Given the description of an element on the screen output the (x, y) to click on. 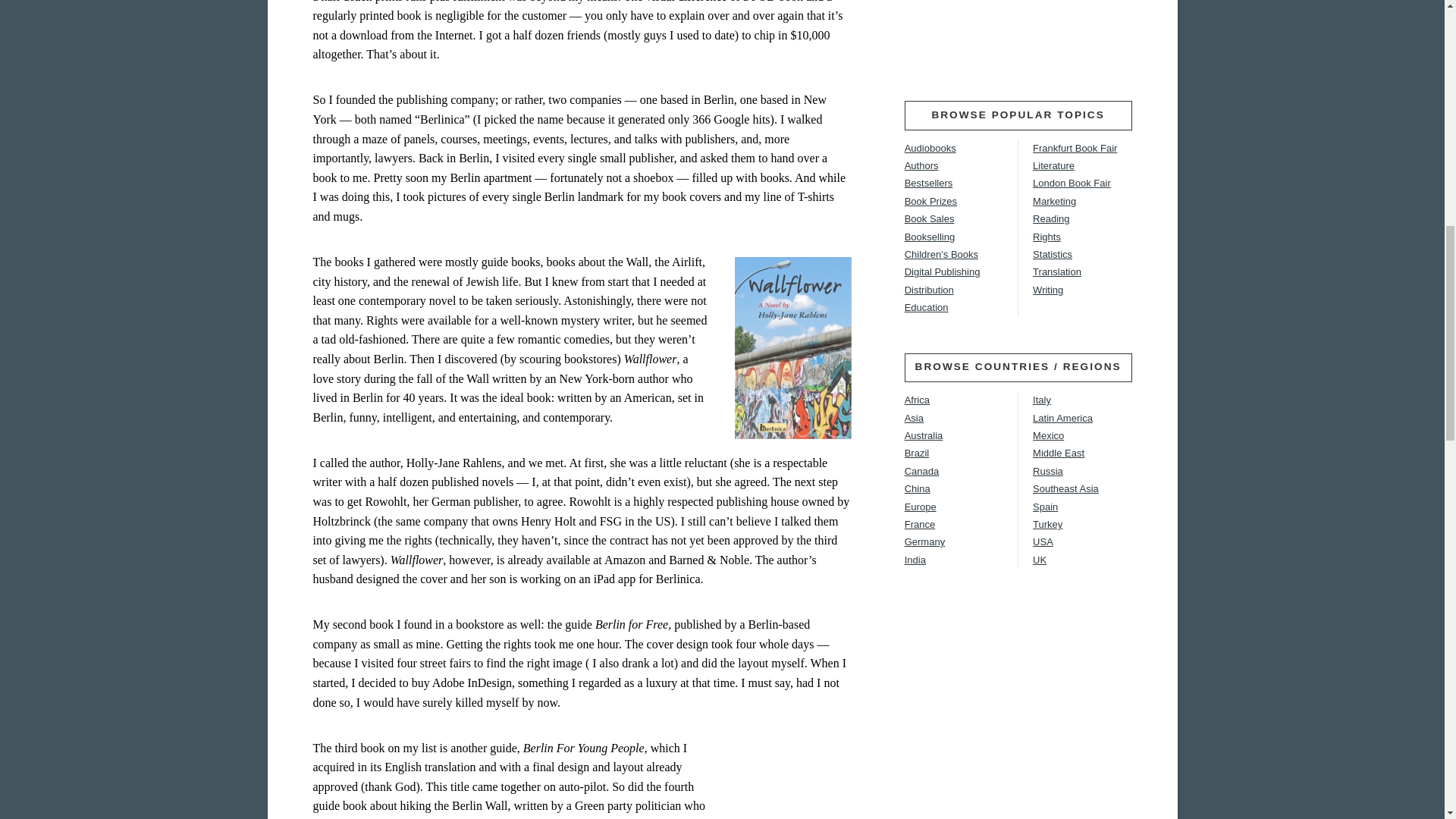
BerlinForFreeNew (794, 780)
